Given the description of an element on the screen output the (x, y) to click on. 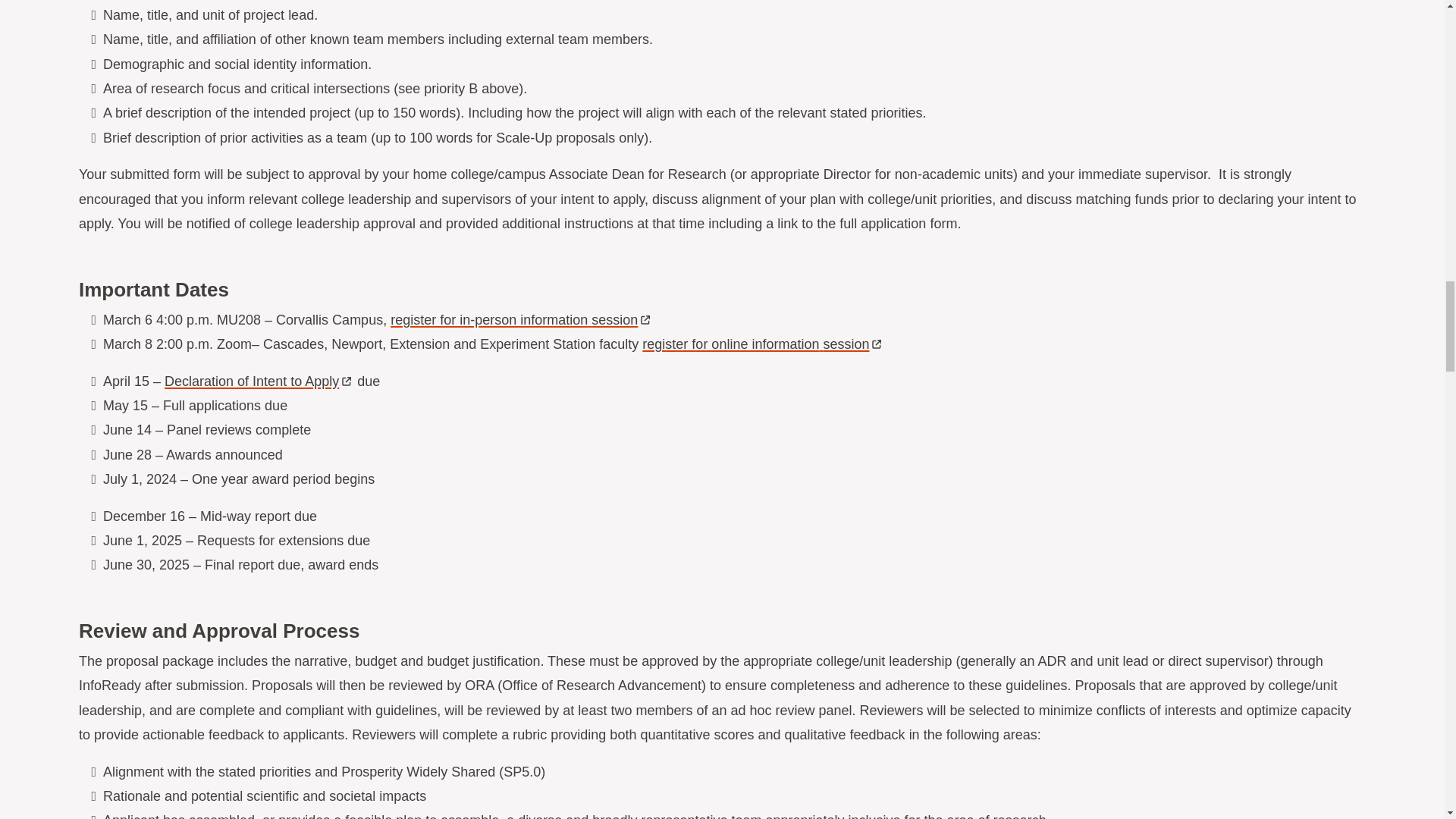
Link is external (346, 378)
Link is external (644, 316)
Link is external (876, 340)
